Given the description of an element on the screen output the (x, y) to click on. 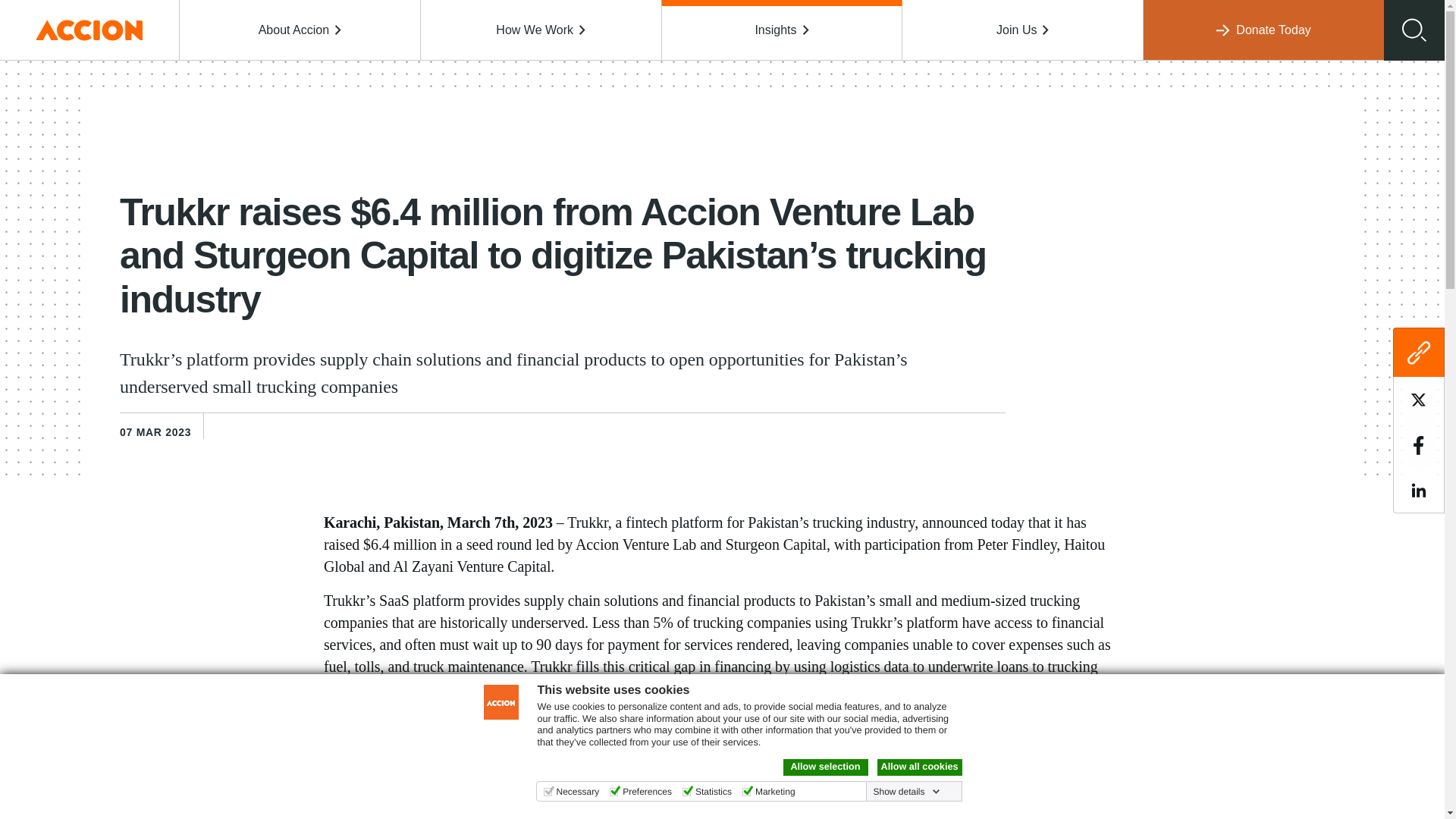
Allow all cookies (918, 767)
Show details (905, 791)
Allow selection (825, 767)
